Given the description of an element on the screen output the (x, y) to click on. 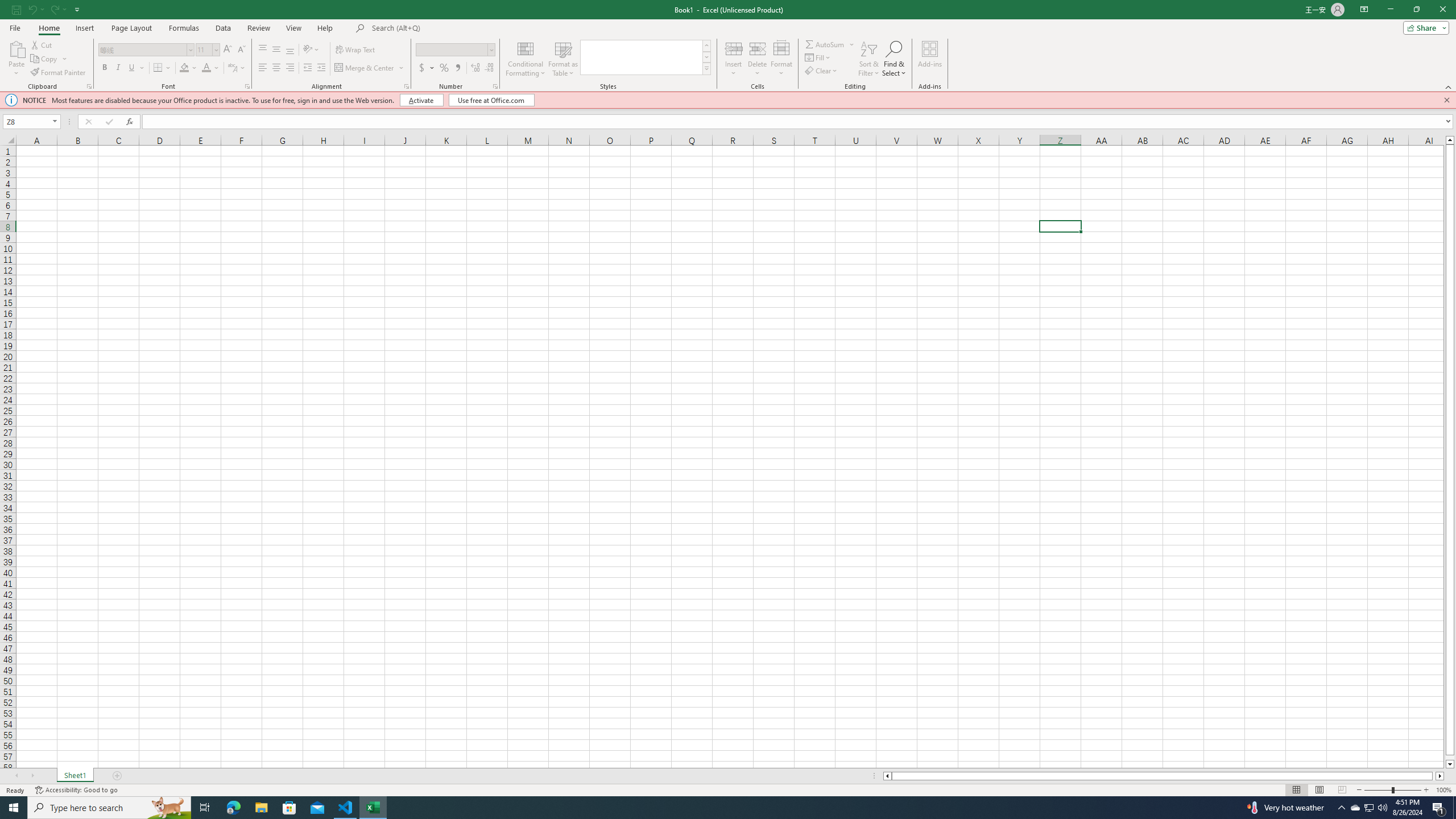
Bold (104, 67)
Close this message (1446, 99)
Bottom Align (290, 49)
Format as Table (563, 58)
Font Color (206, 67)
Format Cell Number (494, 85)
Format Painter (58, 72)
Format Cell Font (247, 85)
